Given the description of an element on the screen output the (x, y) to click on. 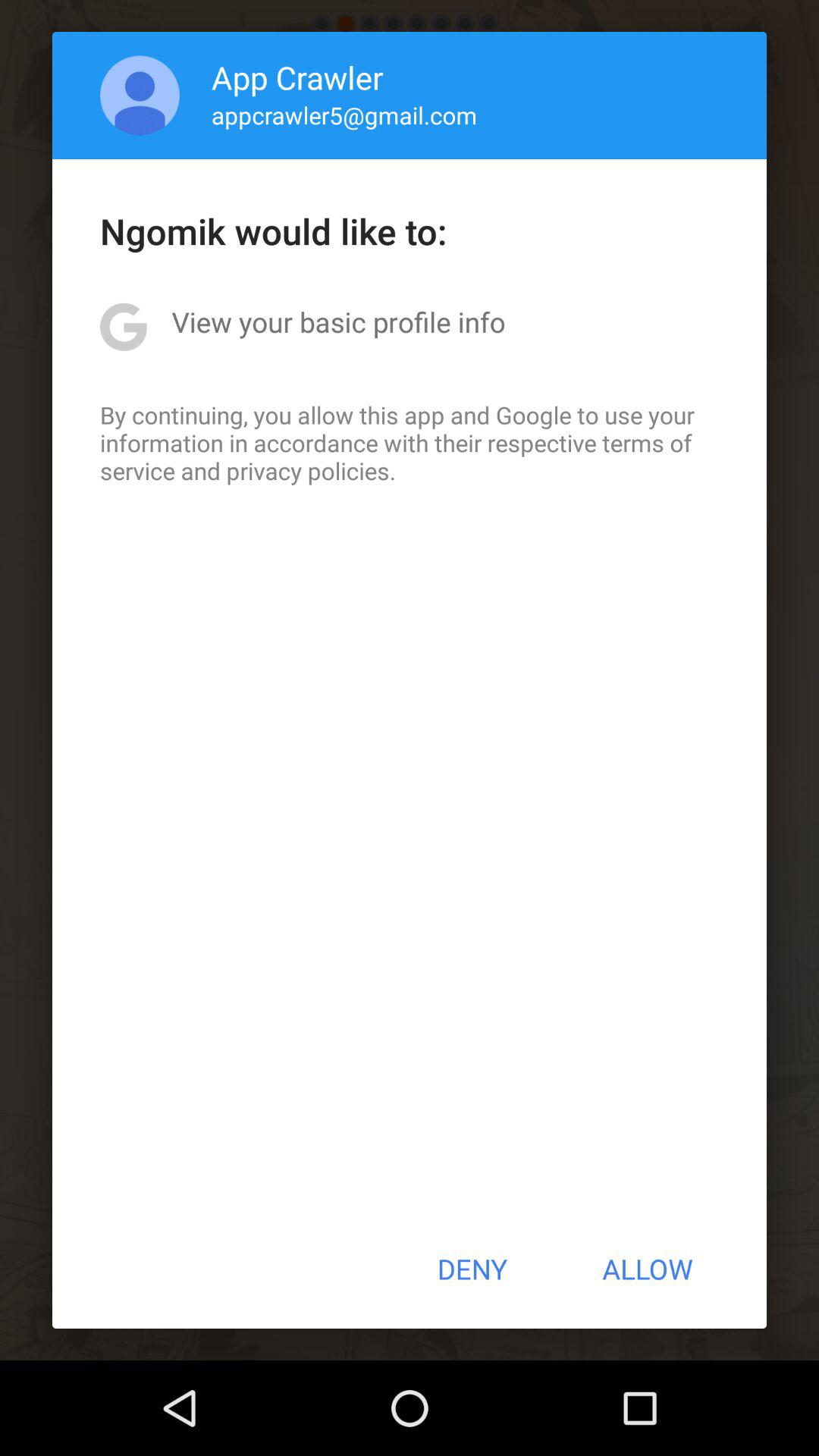
turn off the deny (471, 1268)
